Given the description of an element on the screen output the (x, y) to click on. 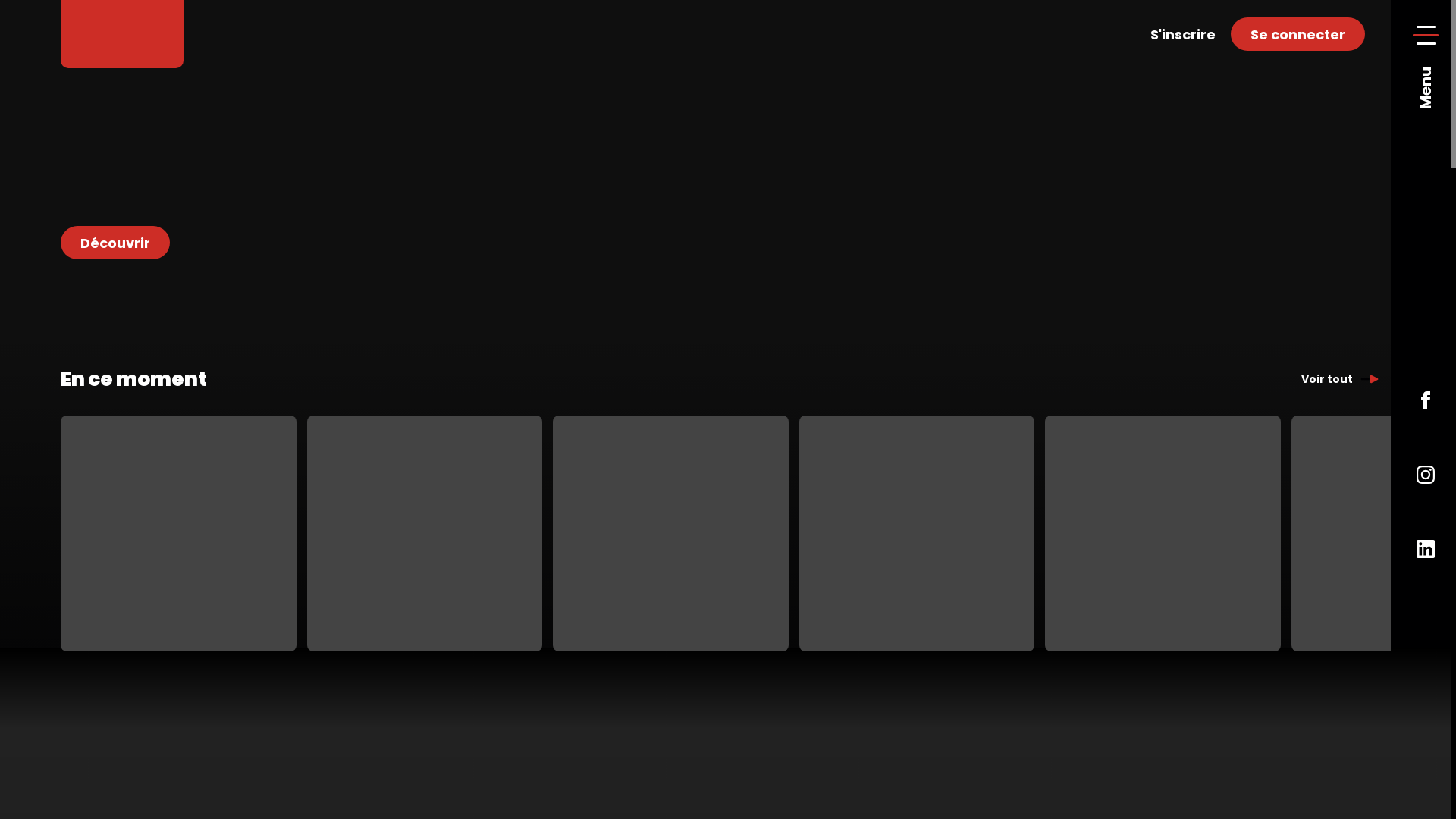
Voir tout Element type: text (1340, 378)
Se connecter Element type: text (1297, 33)
S'inscrire Element type: text (1182, 33)
